Given the description of an element on the screen output the (x, y) to click on. 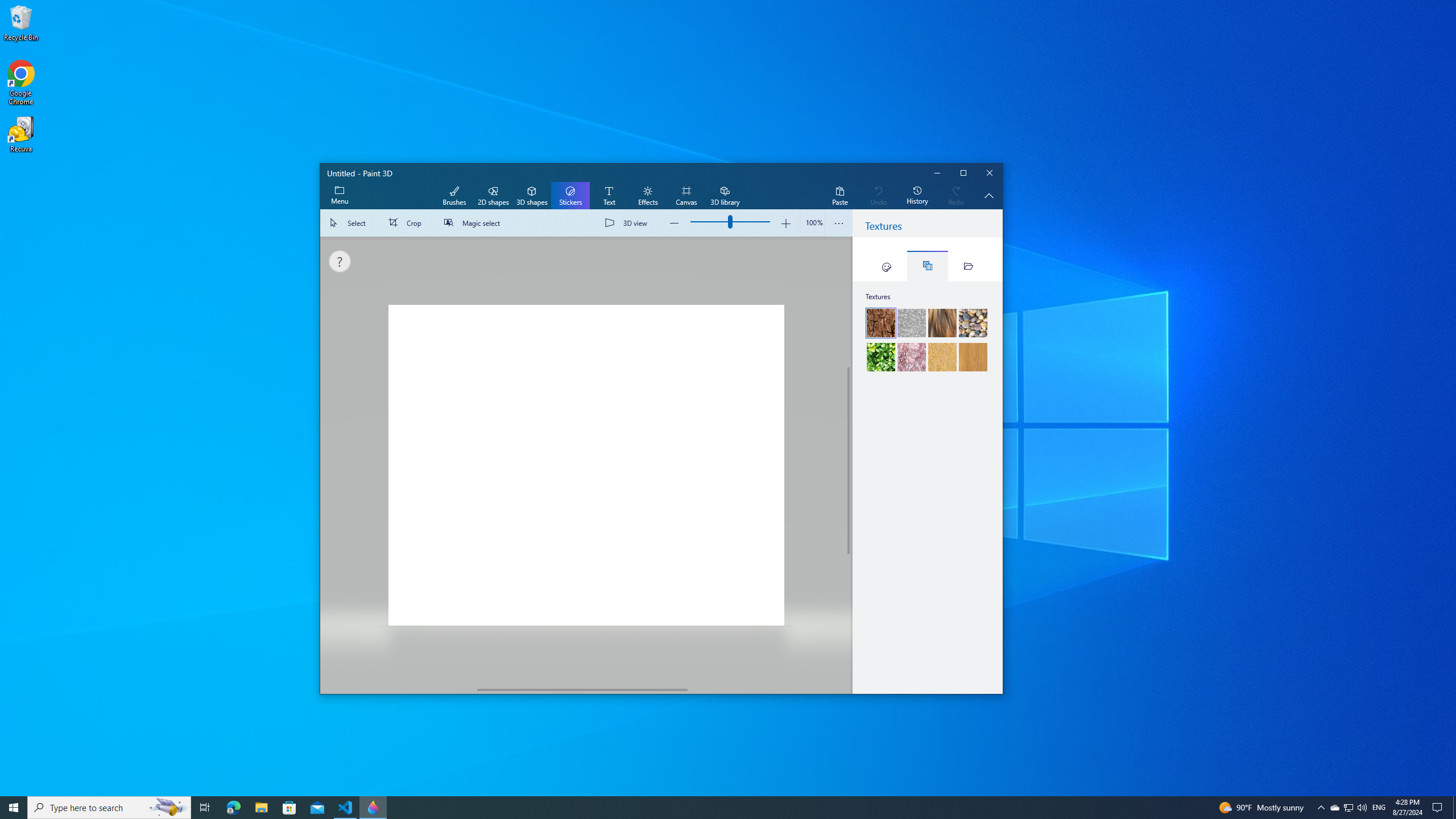
Gravel (973, 322)
Stickers (886, 265)
Text (608, 195)
Vertical Large Decrease (848, 301)
3D library (725, 195)
History (917, 195)
Get some help (338, 260)
Brushes (454, 195)
